Given the description of an element on the screen output the (x, y) to click on. 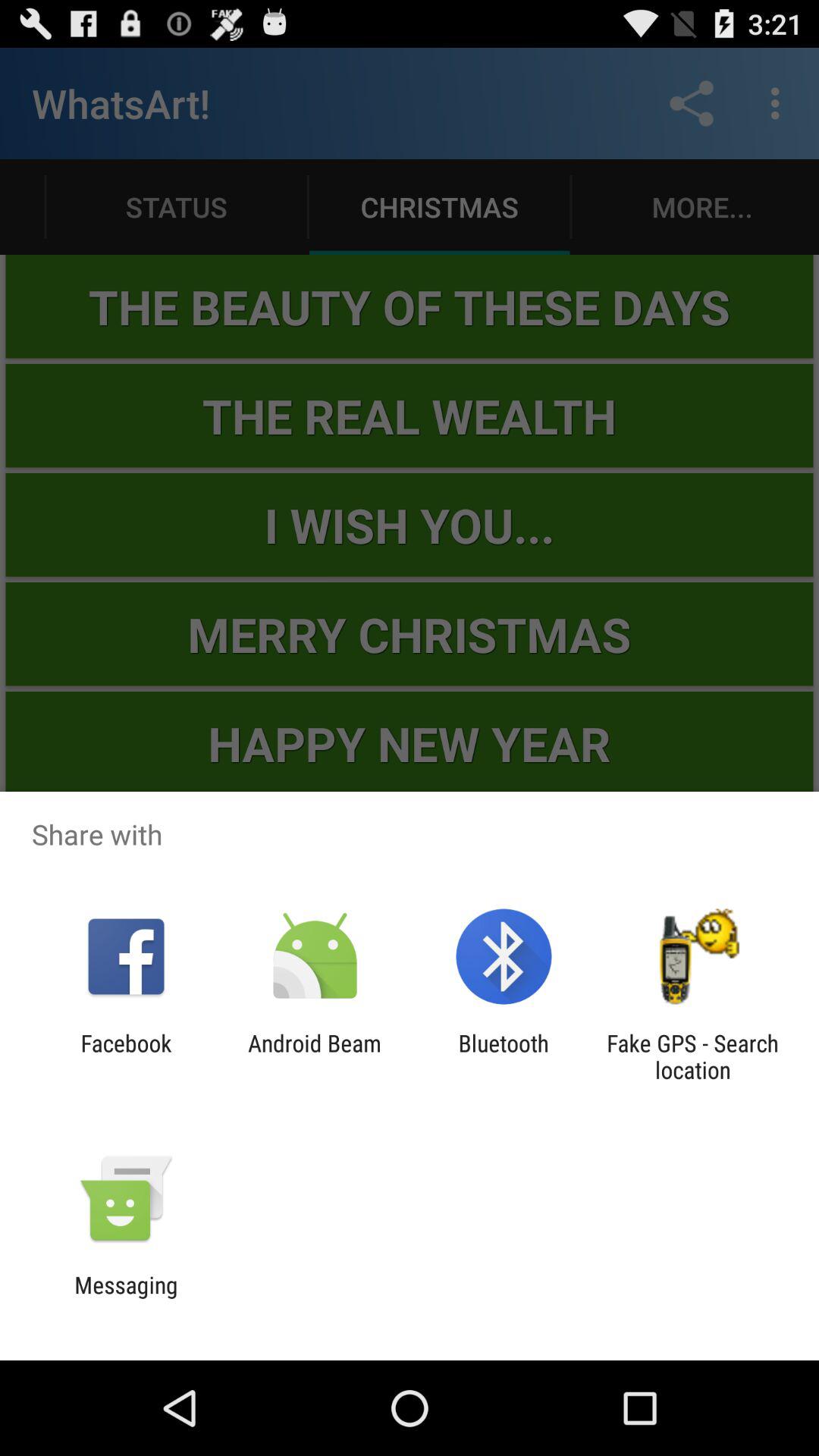
press the bluetooth (503, 1056)
